Given the description of an element on the screen output the (x, y) to click on. 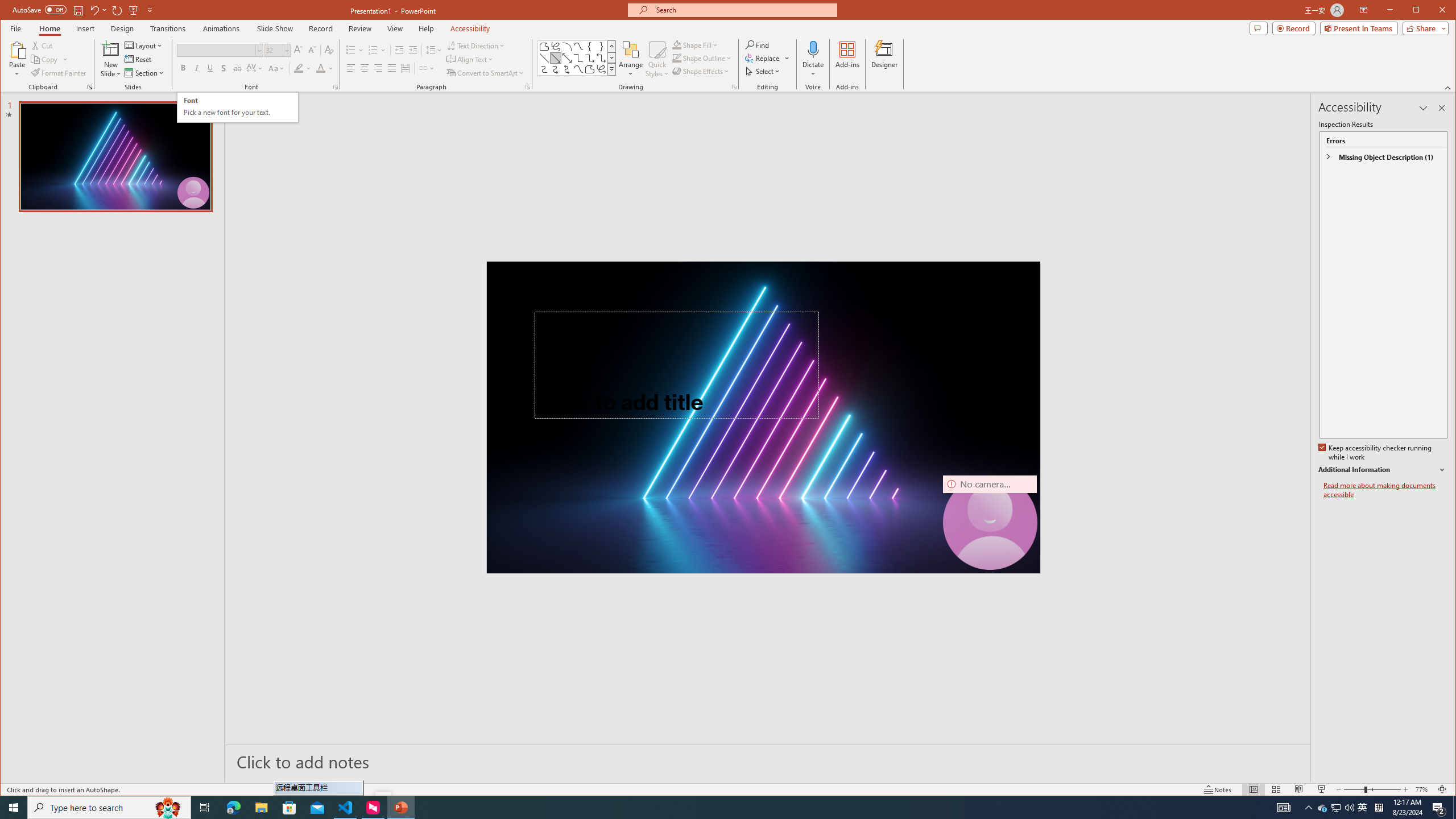
Microsoft Edge (233, 807)
